Given the description of an element on the screen output the (x, y) to click on. 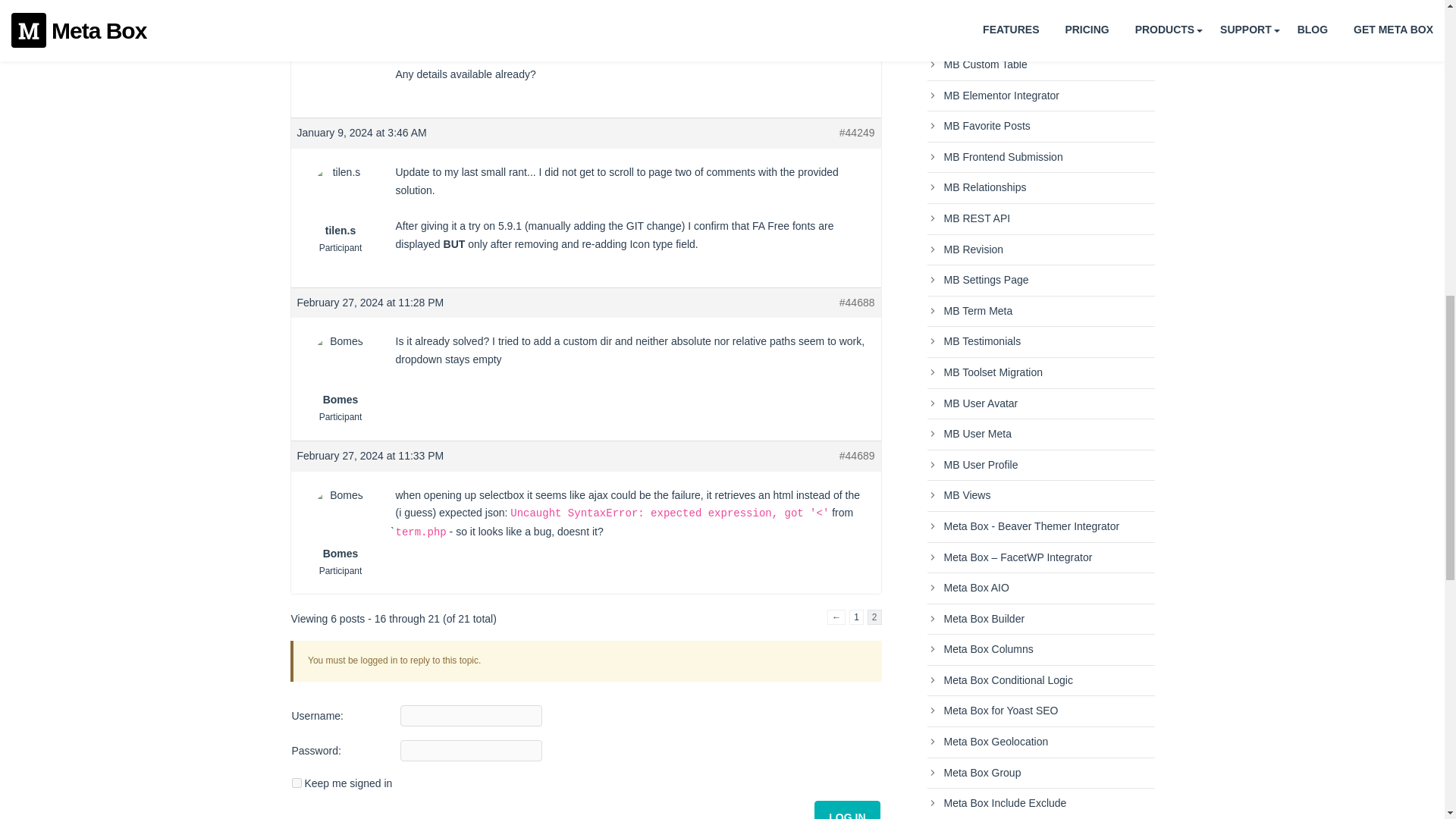
View Bomes's profile (340, 523)
forever (296, 782)
View Bomes's profile (340, 369)
tilen.s (340, 201)
View tilen.s's profile (340, 201)
